Given the description of an element on the screen output the (x, y) to click on. 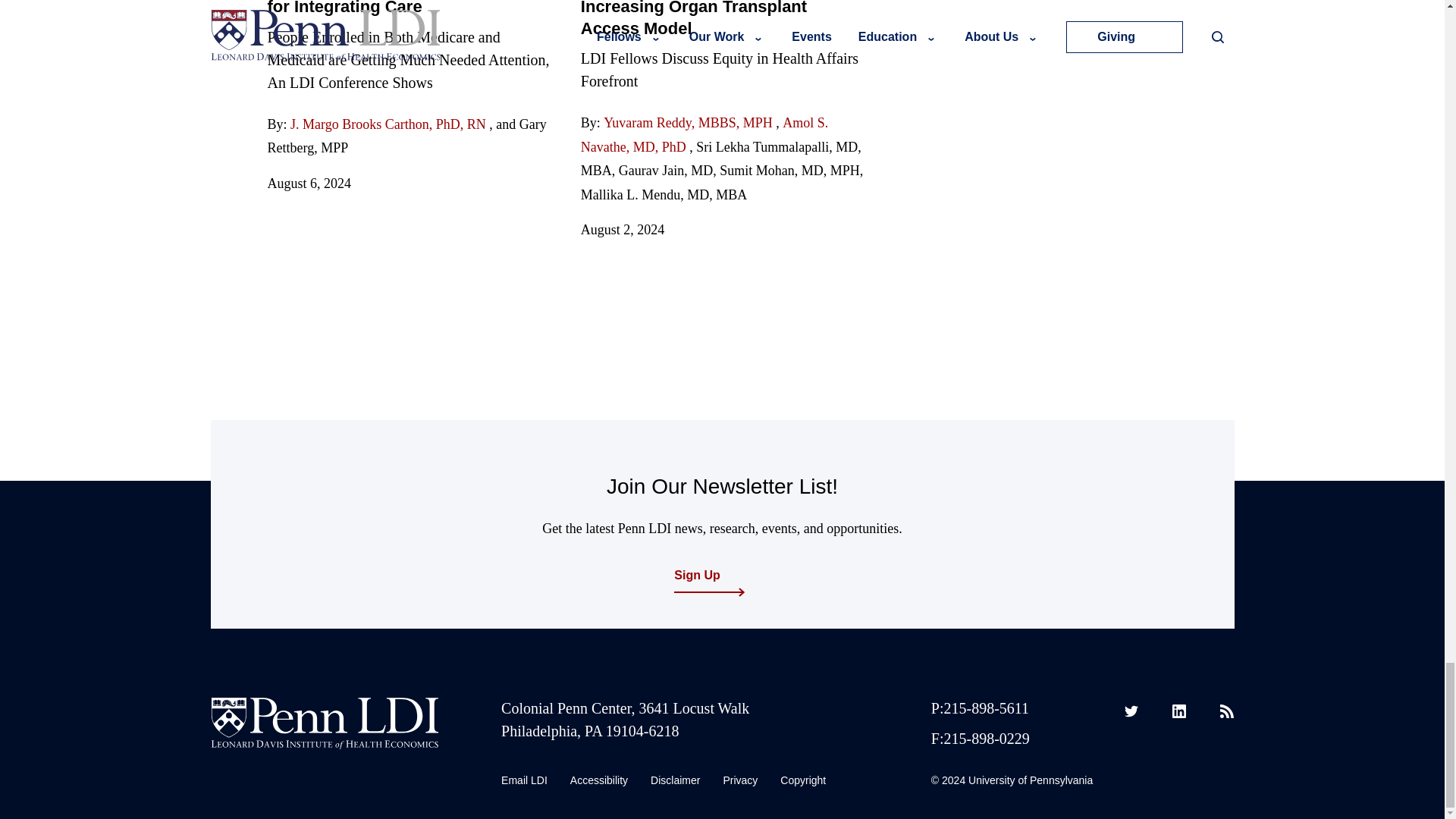
linkedin (1179, 711)
rss (1226, 711)
twitter (1131, 711)
Penn LDI (324, 722)
